Given the description of an element on the screen output the (x, y) to click on. 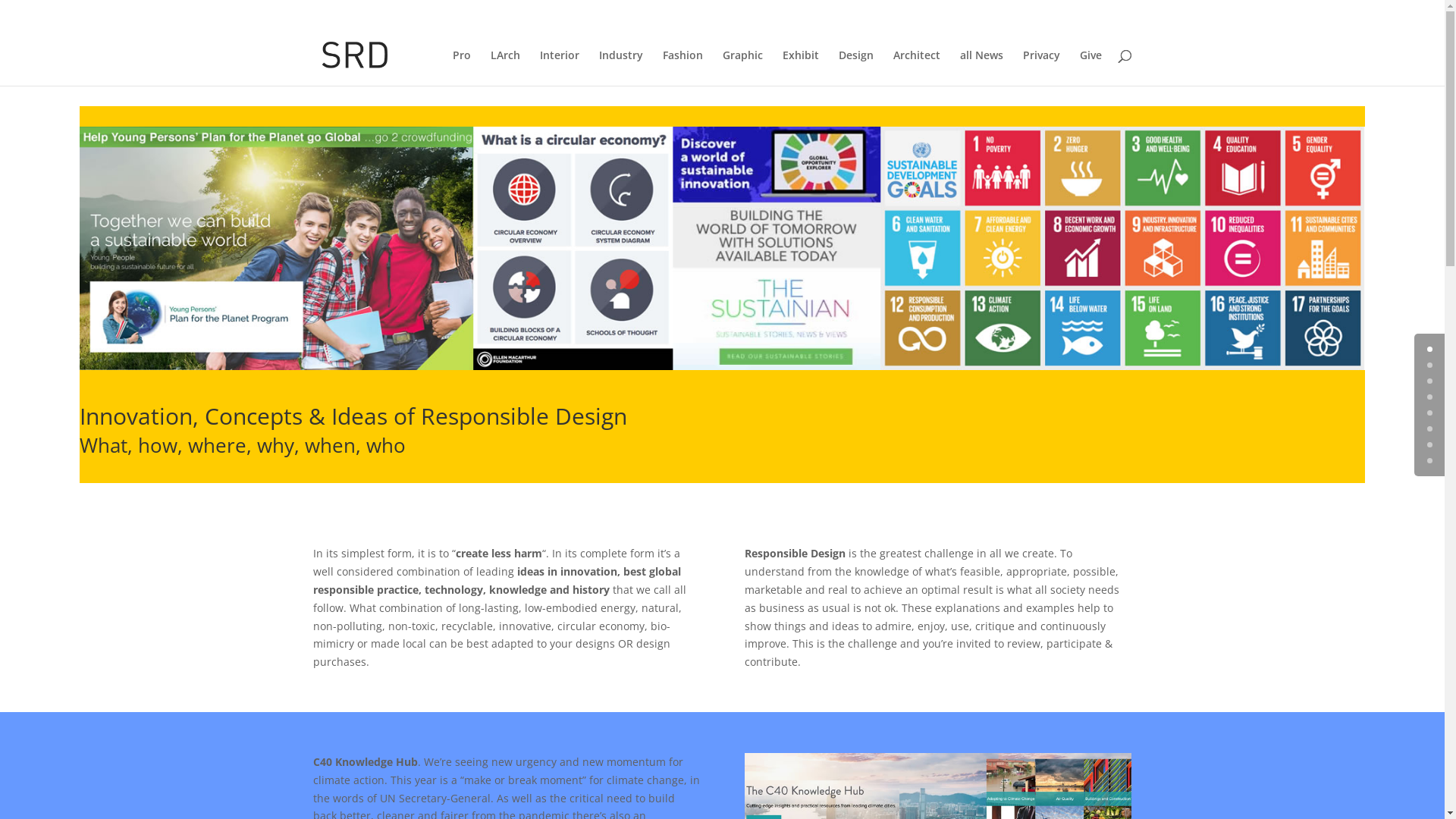
Fashion Element type: text (682, 67)
5 Element type: text (1429, 428)
7 Element type: text (1429, 460)
Privacy Element type: text (1040, 67)
4 Element type: text (1429, 412)
0 Element type: text (1429, 348)
all News Element type: text (981, 67)
Industry Element type: text (621, 67)
Pro Element type: text (460, 67)
6 Element type: text (1429, 444)
Exhibit Element type: text (800, 67)
Graphic Element type: text (741, 67)
LArch Element type: text (504, 67)
Design Element type: text (855, 67)
Ideas of Responsible Design are many & interrelated Element type: hover (722, 247)
3 Element type: text (1429, 396)
Architect Element type: text (916, 67)
Interior Element type: text (559, 67)
2 Element type: text (1429, 380)
Give Element type: text (1090, 67)
1 Element type: text (1429, 364)
